Given the description of an element on the screen output the (x, y) to click on. 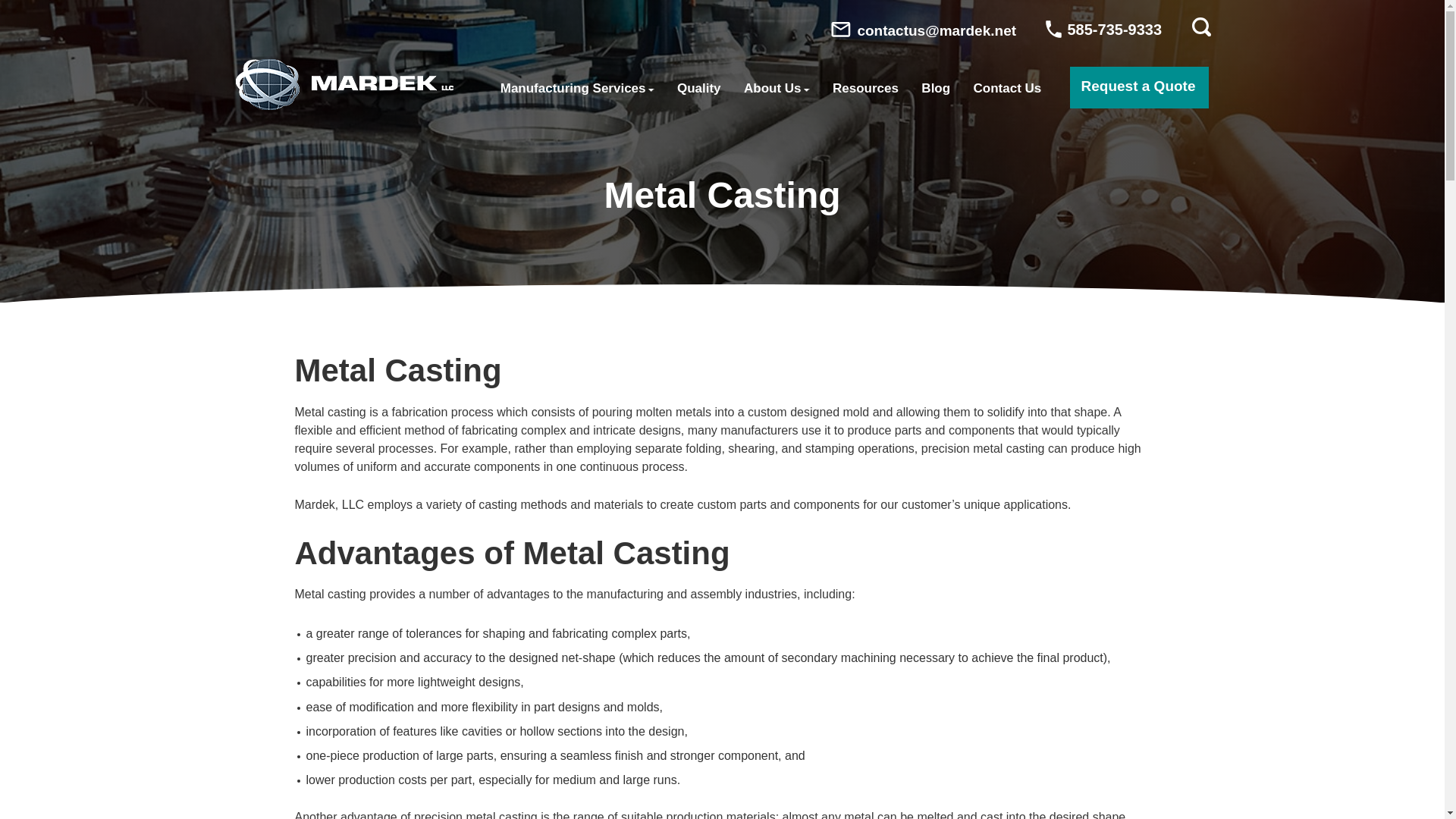
585-735-9333 (1103, 28)
Request a Quote (1139, 87)
Blog (935, 87)
Contact Us (1006, 87)
Mardek LLC (343, 84)
Manufacturing Services (576, 87)
About Us (776, 87)
Quality (698, 87)
Resources (865, 87)
